Given the description of an element on the screen output the (x, y) to click on. 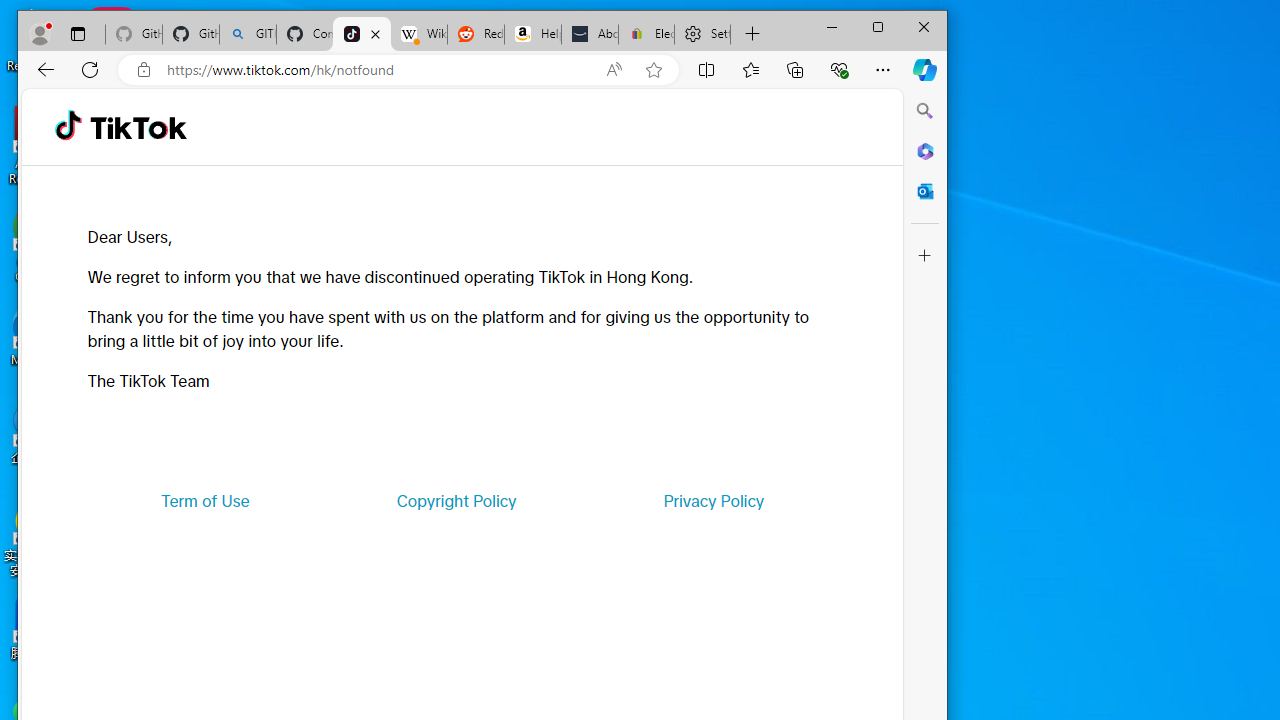
Term of Use (205, 500)
Maximize (878, 26)
